Given the description of an element on the screen output the (x, y) to click on. 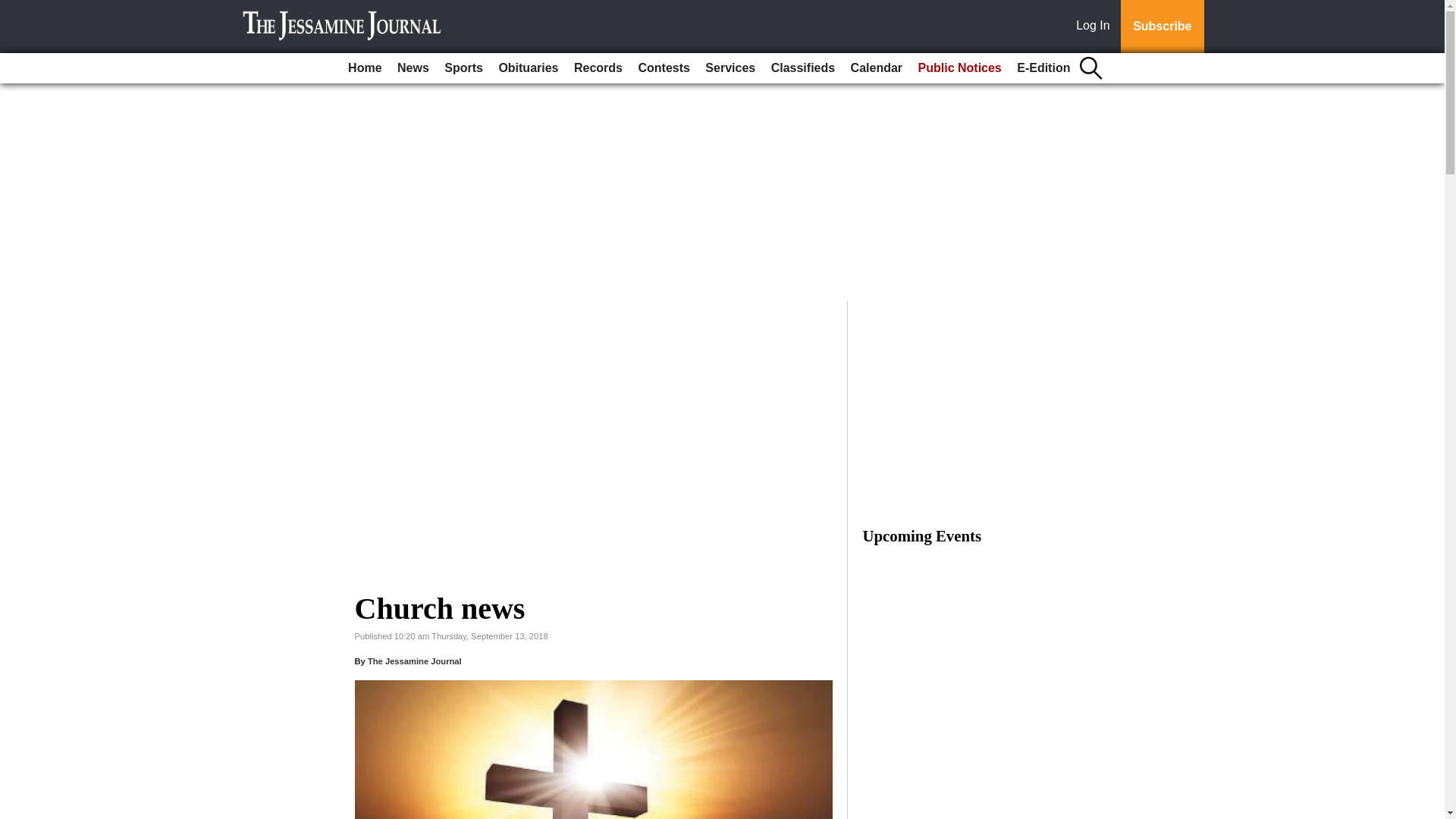
Public Notices (959, 68)
The Jessamine Journal (414, 660)
Calendar (876, 68)
Contests (663, 68)
Sports (463, 68)
Records (597, 68)
E-Edition (1042, 68)
Services (729, 68)
Obituaries (528, 68)
Subscribe (1162, 26)
Log In (1095, 26)
News (413, 68)
Home (364, 68)
Classifieds (803, 68)
Go (13, 9)
